Given the description of an element on the screen output the (x, y) to click on. 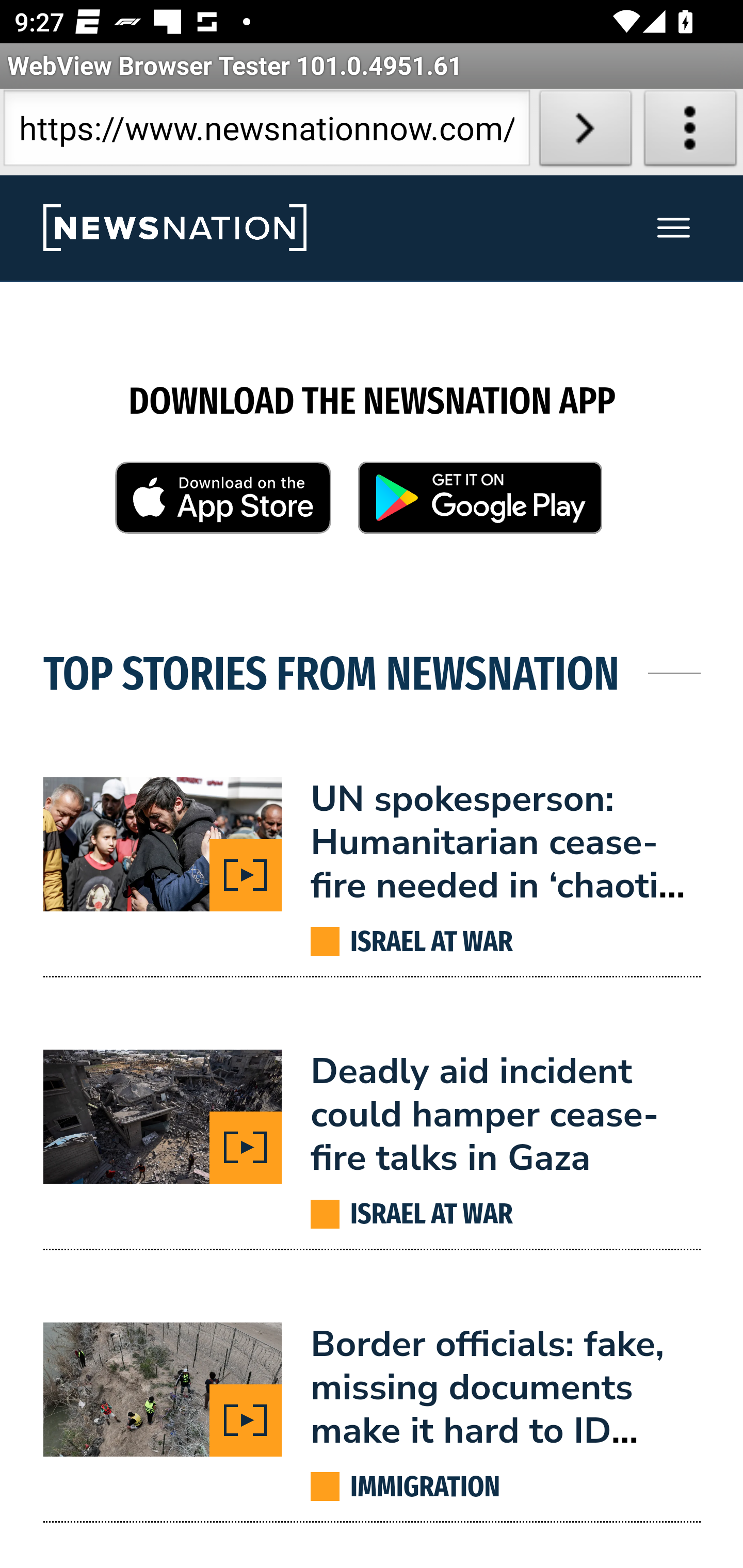
https://www.newsnationnow.com/channel-finder/ (266, 132)
Load URL (585, 132)
About WebView (690, 132)
www.newsnationnow (174, 228)
Toggle Menu (674, 228)
Get the Android Weather app from Google Play (480, 501)
Get the iOS Weather app (222, 502)
ISRAEL AT WAR (431, 941)
ISRAEL AT WAR (431, 1215)
IMMIGRATION (426, 1487)
